Given the description of an element on the screen output the (x, y) to click on. 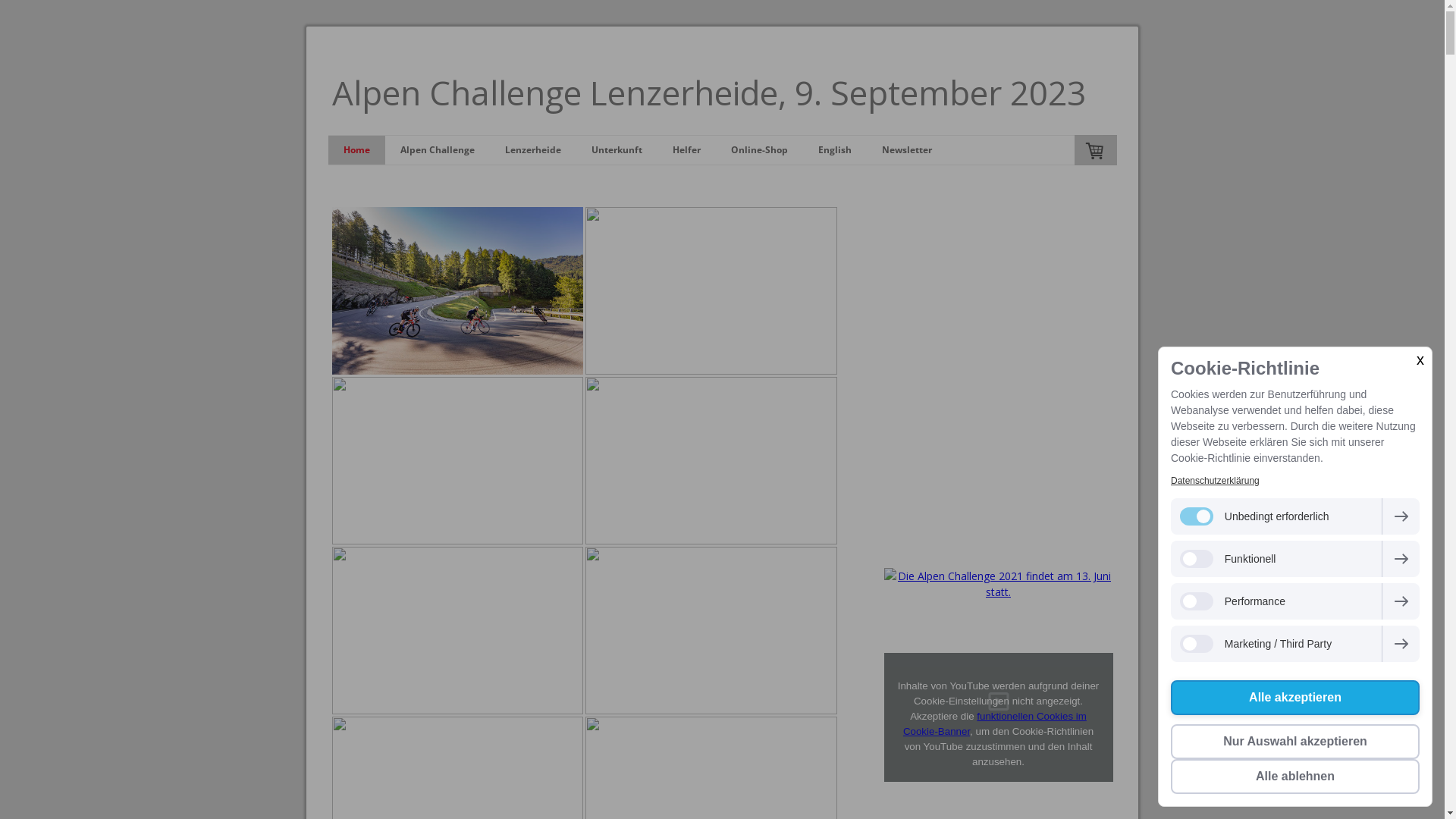
Home Element type: text (355, 149)
funktionellen Cookies im Cookie-Banner Element type: text (994, 723)
Nur Auswahl akzeptieren Element type: text (1294, 741)
Alpen Challenge Element type: text (437, 149)
Alle akzeptieren Element type: text (1294, 697)
Unterkunft Element type: text (616, 149)
Online-Shop Element type: text (759, 149)
Alle ablehnen Element type: text (1294, 776)
Lenzerheide Element type: text (532, 149)
English Element type: text (834, 149)
Helfer Element type: text (685, 149)
Alpen Challenge Lenzerheide, 9. September 2023 Element type: text (722, 92)
Newsletter Element type: text (906, 149)
